Given the description of an element on the screen output the (x, y) to click on. 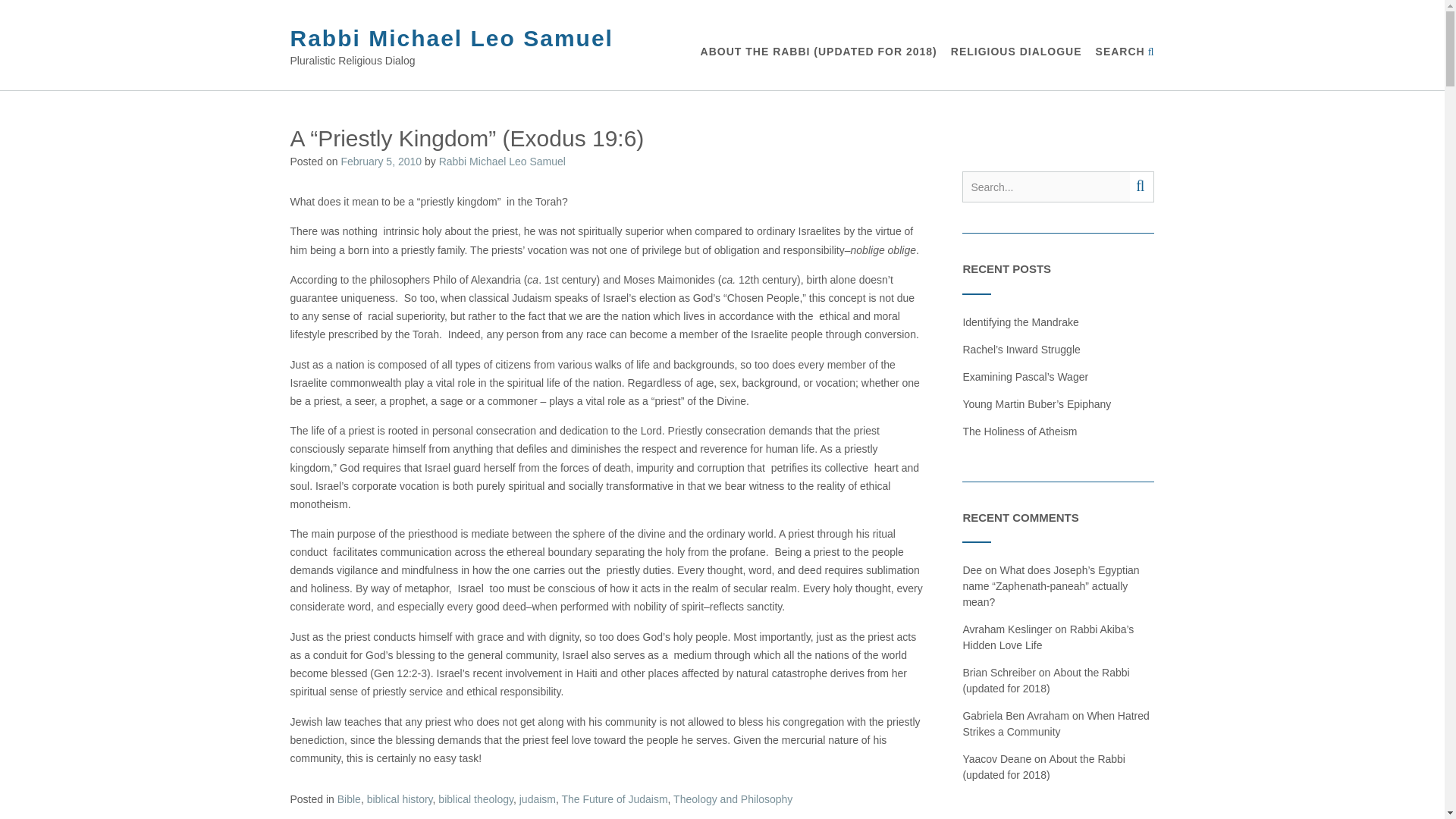
When Hatred Strikes a Community (1055, 723)
The Future of Judaism (615, 799)
biblical theology (475, 799)
Theology and Philosophy (732, 799)
Rabbi Michael Leo Samuel (450, 38)
Identifying the Mandrake (1020, 321)
Dee (971, 570)
February 5, 2010 (381, 161)
Rabbi Michael Leo Samuel (450, 38)
judaism (537, 799)
